Given the description of an element on the screen output the (x, y) to click on. 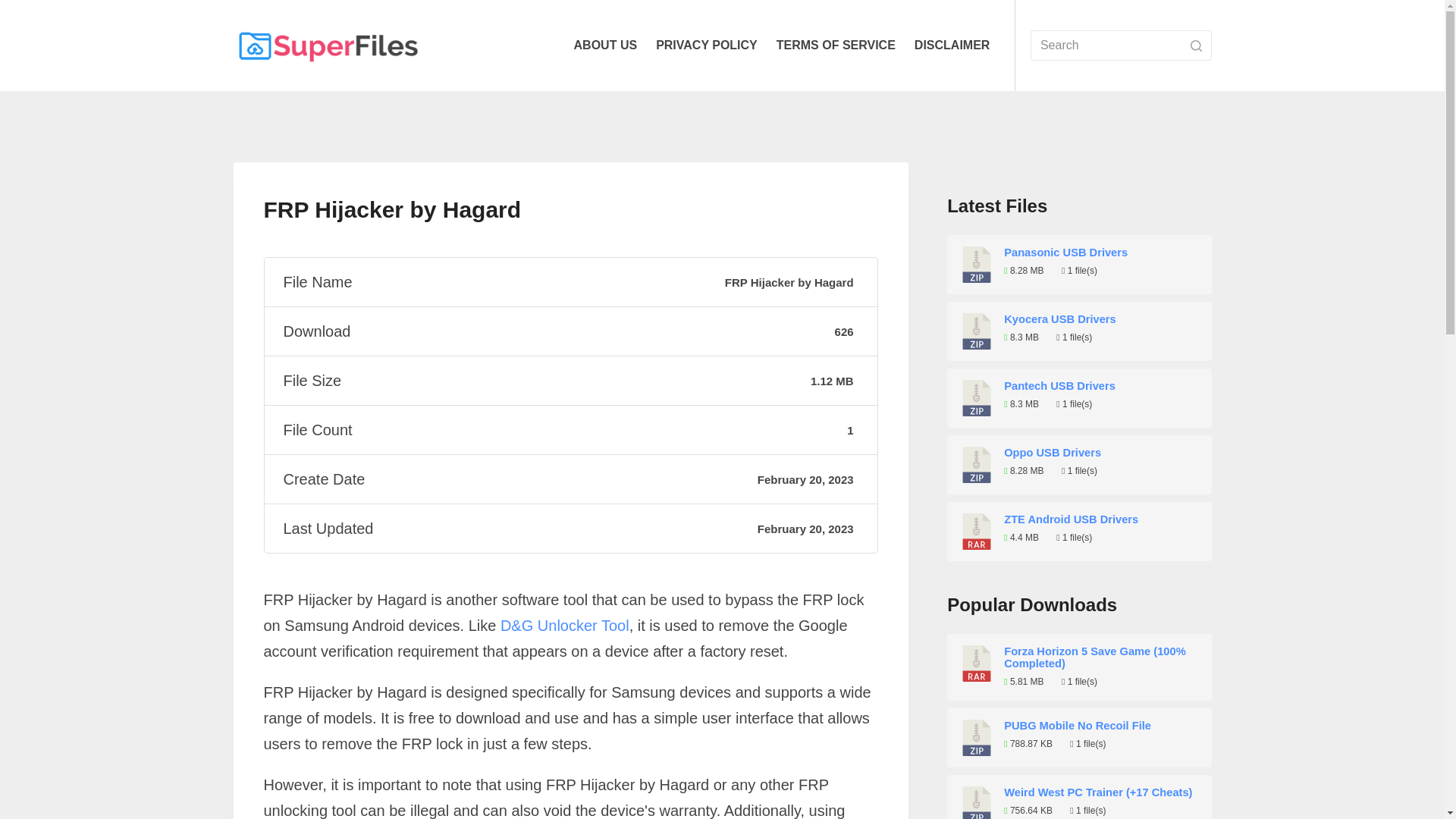
FRP Hijacker by Hagard (570, 209)
TERMS OF SERVICE (835, 45)
Pantech USB Drivers (1101, 386)
DISCLAIMER (951, 45)
PRIVACY POLICY (706, 45)
ZTE Android USB Drivers (1101, 519)
Oppo USB Drivers (1101, 452)
Search for... (1120, 45)
Panasonic USB Drivers (1101, 252)
Skip to content (15, 7)
Kyocera USB Drivers (1101, 318)
ABOUT US (605, 45)
